Given the description of an element on the screen output the (x, y) to click on. 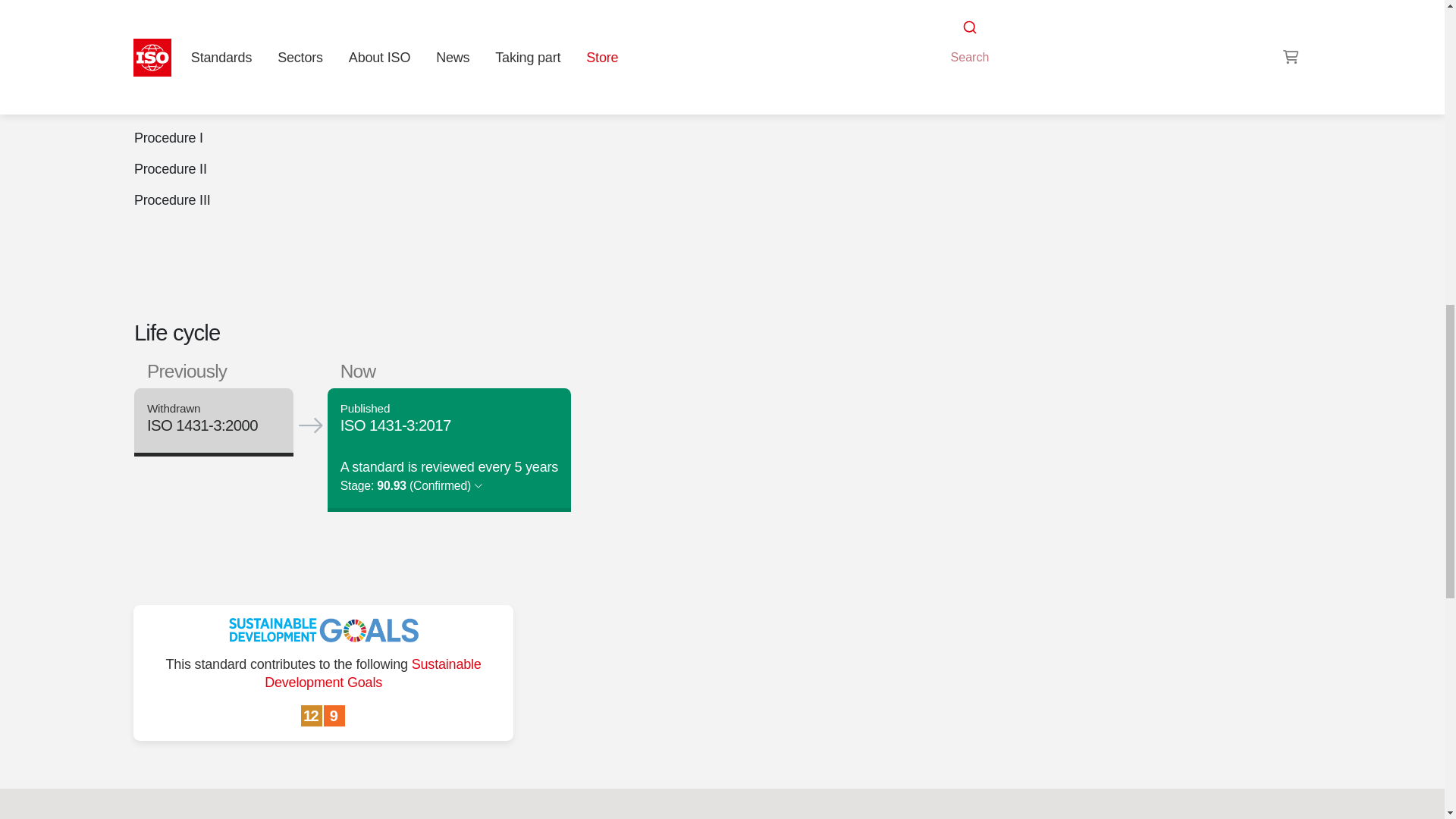
83.060 (988, 40)
Rubber (988, 40)
Testing and analysis (1117, 22)
